Given the description of an element on the screen output the (x, y) to click on. 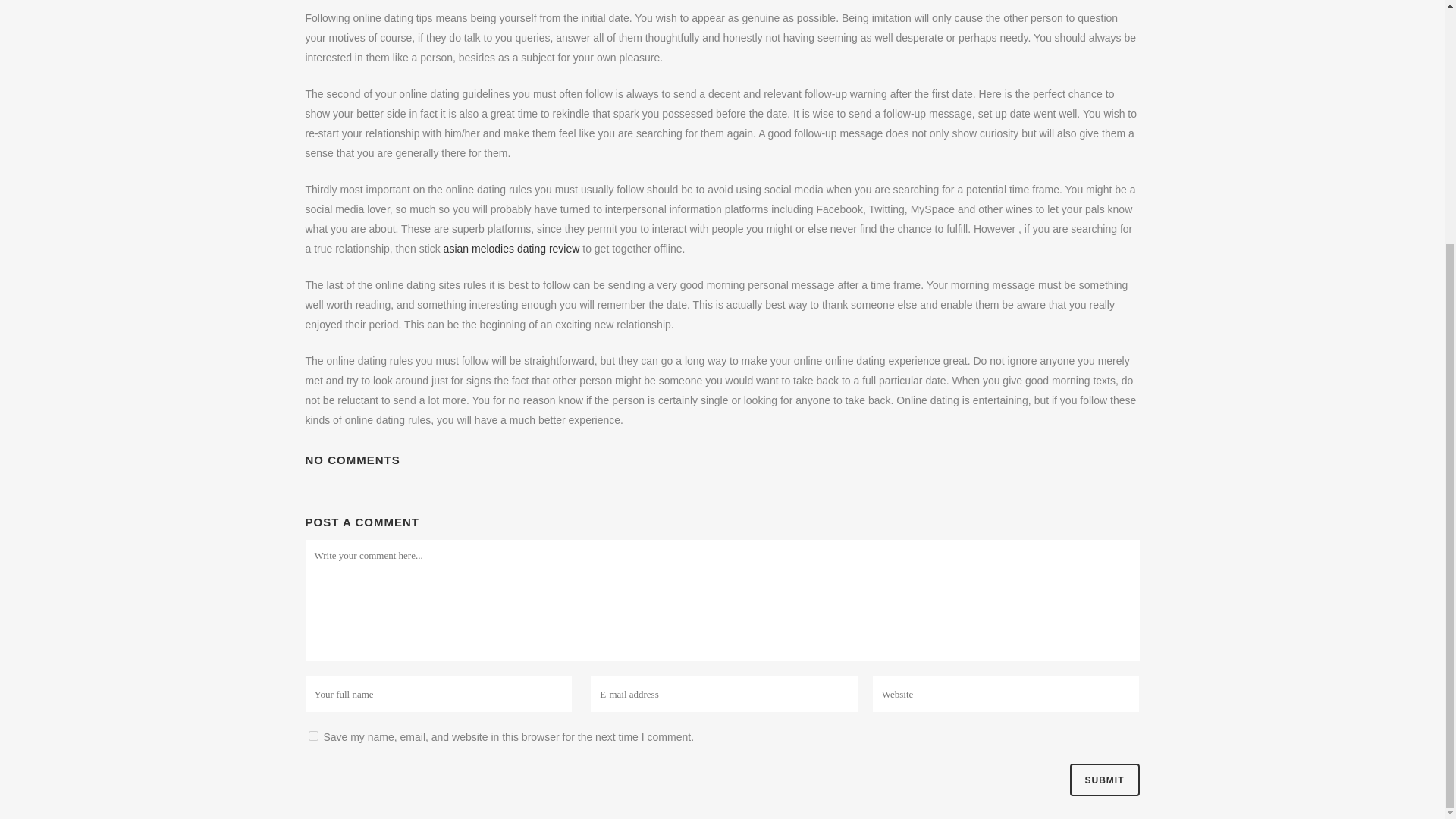
Submit (1103, 779)
yes (312, 736)
Submit (1103, 779)
asian melodies dating review (511, 248)
